Given the description of an element on the screen output the (x, y) to click on. 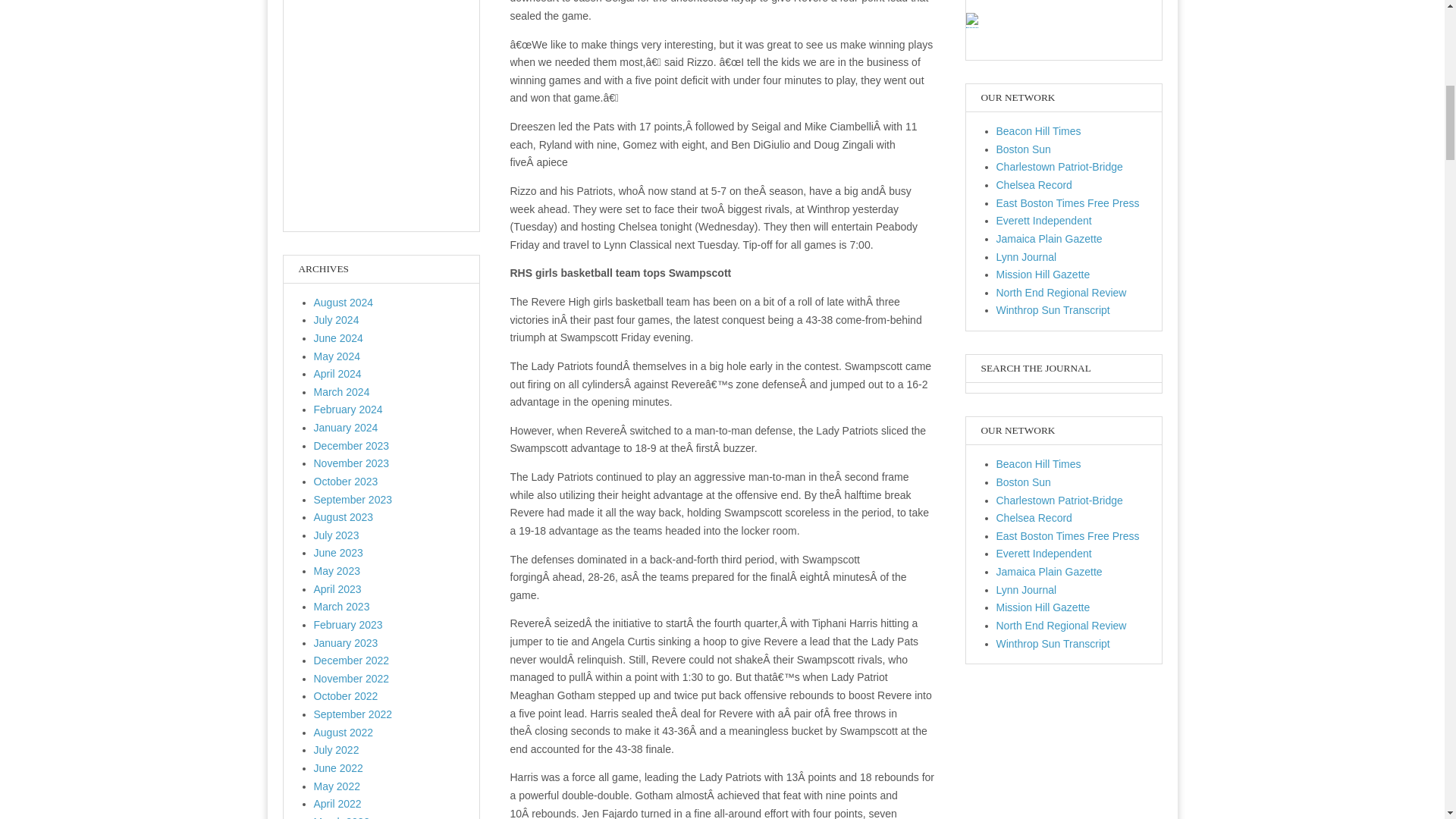
Chelsea Record (1033, 184)
Chelsea Record (1033, 517)
Winthrop Sun Transcript (1052, 644)
East Boston Times Free Press (1067, 203)
East Boston Times Free Press (1067, 535)
Winthrop Sun Transcript (1052, 309)
Everett Independent (1043, 220)
Lynn Journal (1026, 256)
Everett Independent (1043, 553)
Lynn Journal (1026, 589)
